Given the description of an element on the screen output the (x, y) to click on. 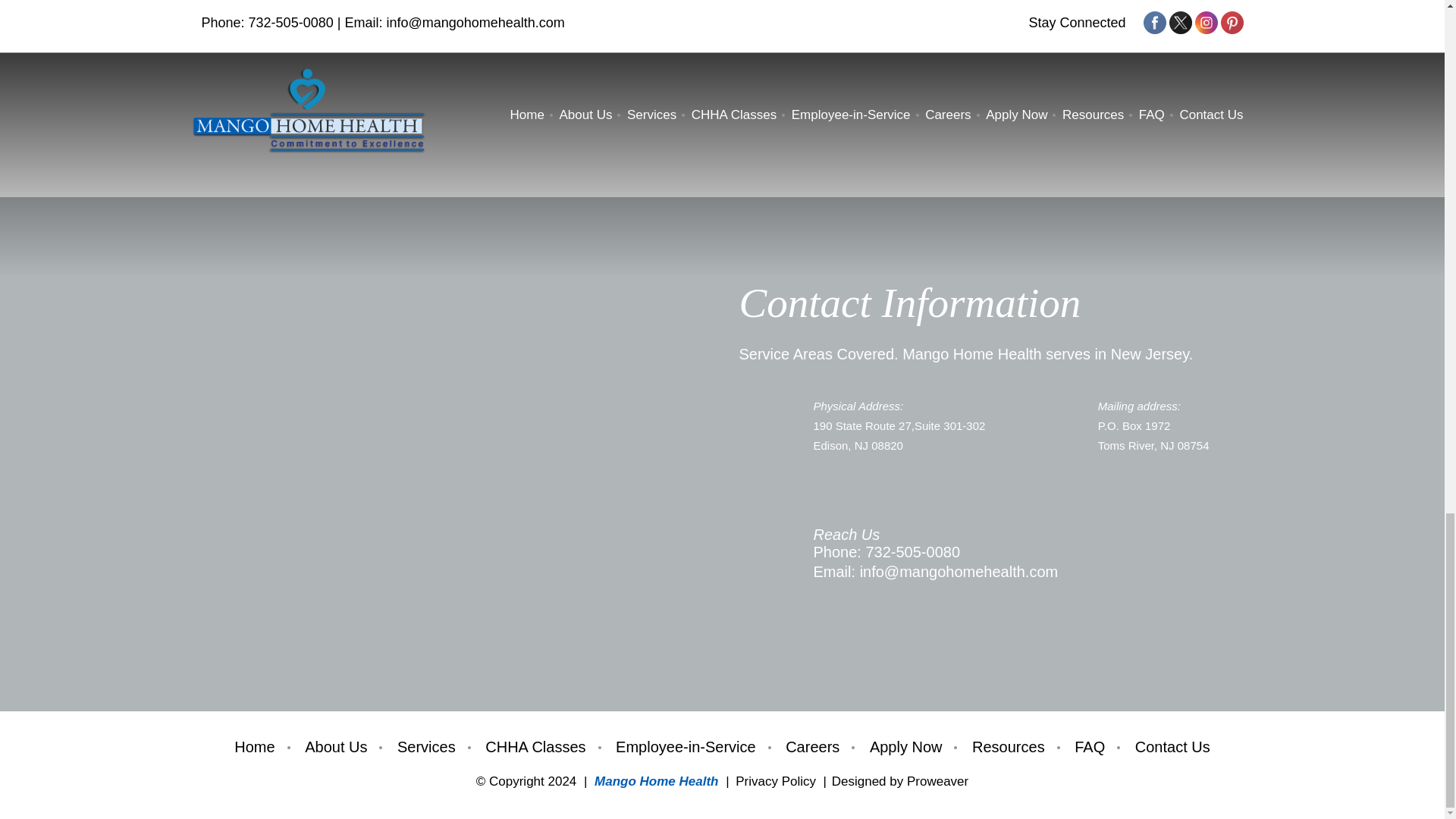
Resources (1008, 746)
732-505-0080 (911, 551)
Contact Us (1165, 746)
About Us (336, 746)
Privacy Policy (775, 781)
FAQ (1089, 746)
Employee-in-Service (685, 746)
Home (260, 746)
Apply Now (906, 746)
Designed by Proweaver (899, 780)
